Given the description of an element on the screen output the (x, y) to click on. 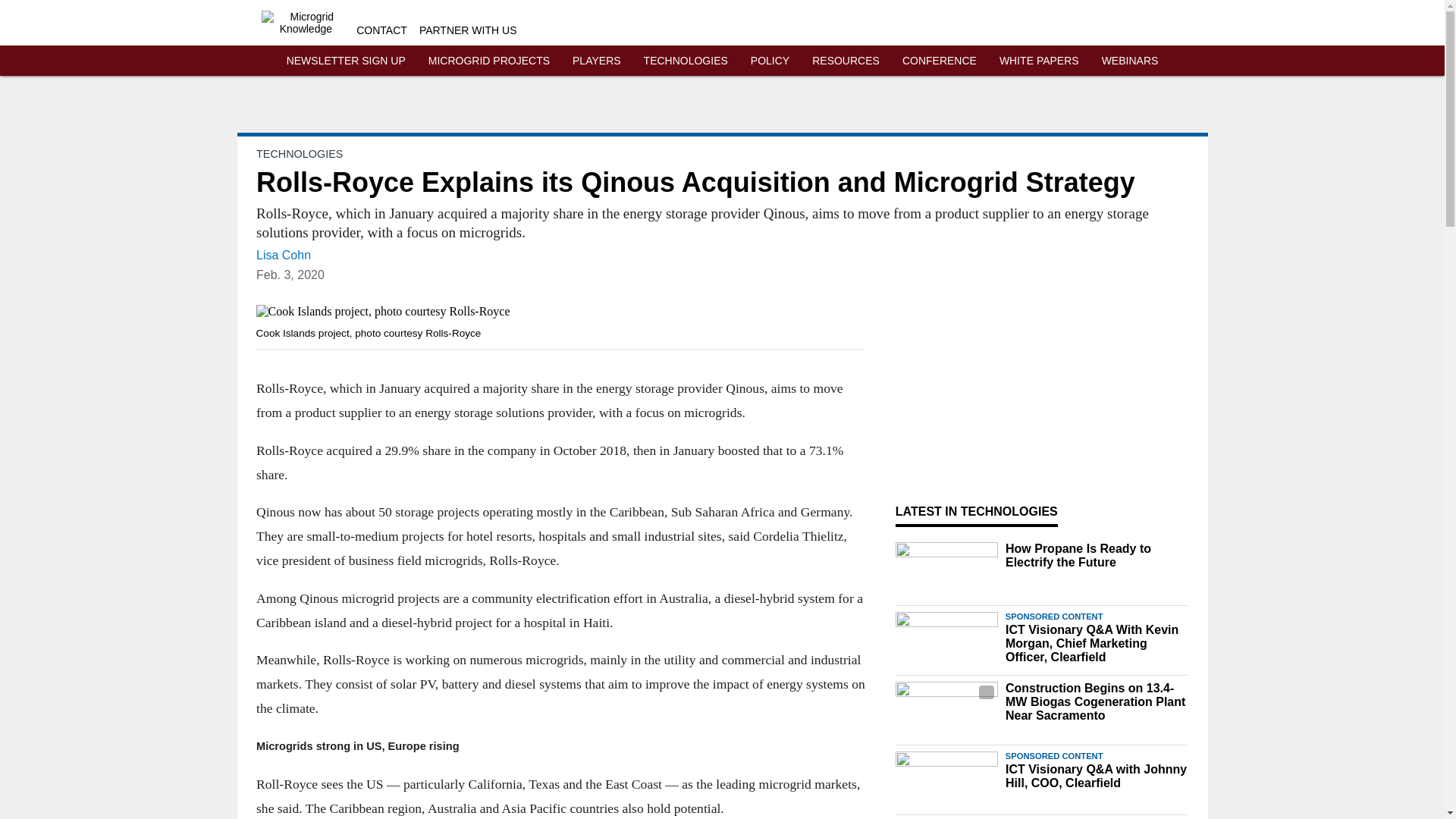
TECHNOLOGIES (299, 153)
WEBINARS (1130, 60)
MICROGRID PROJECTS (489, 60)
How Propane Is Ready to Electrify the Future (1097, 555)
NEWSLETTER SIGN UP (346, 60)
PARTNER WITH US (467, 30)
POLICY (770, 60)
Lisa Cohn (283, 254)
PLAYERS (596, 60)
CONTACT (381, 30)
WHITE PAPERS (1038, 60)
RESOURCES (845, 60)
Cook Islands project, photo courtesy Rolls-Royce (560, 311)
CONFERENCE (939, 60)
